Given the description of an element on the screen output the (x, y) to click on. 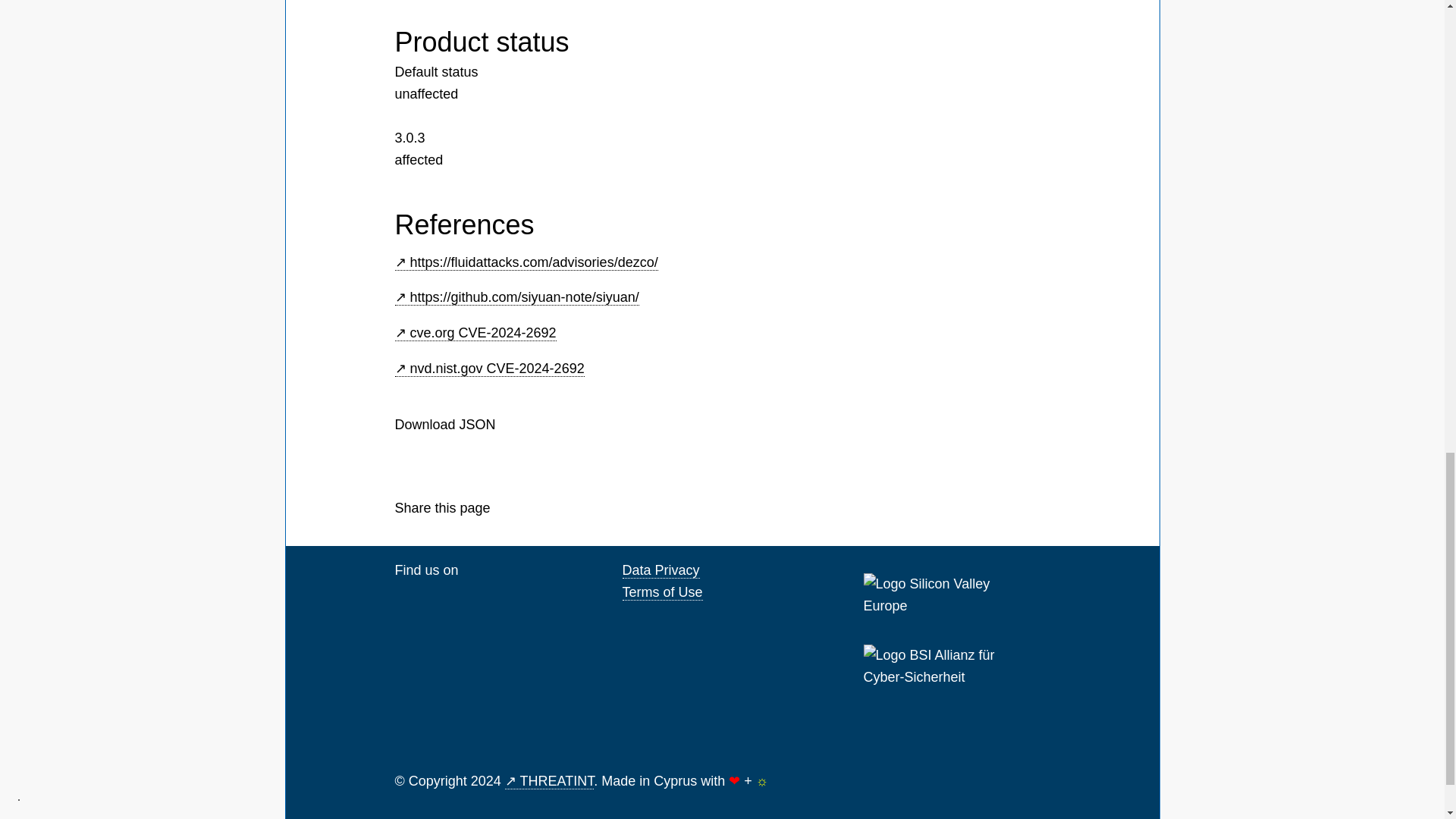
cve.org CVE-2024-2692 (475, 333)
THREATINT (549, 781)
nvd.nist.gov CVE-2024-2692 (488, 368)
Data Privacy (659, 570)
Terms of Use (661, 592)
